Given the description of an element on the screen output the (x, y) to click on. 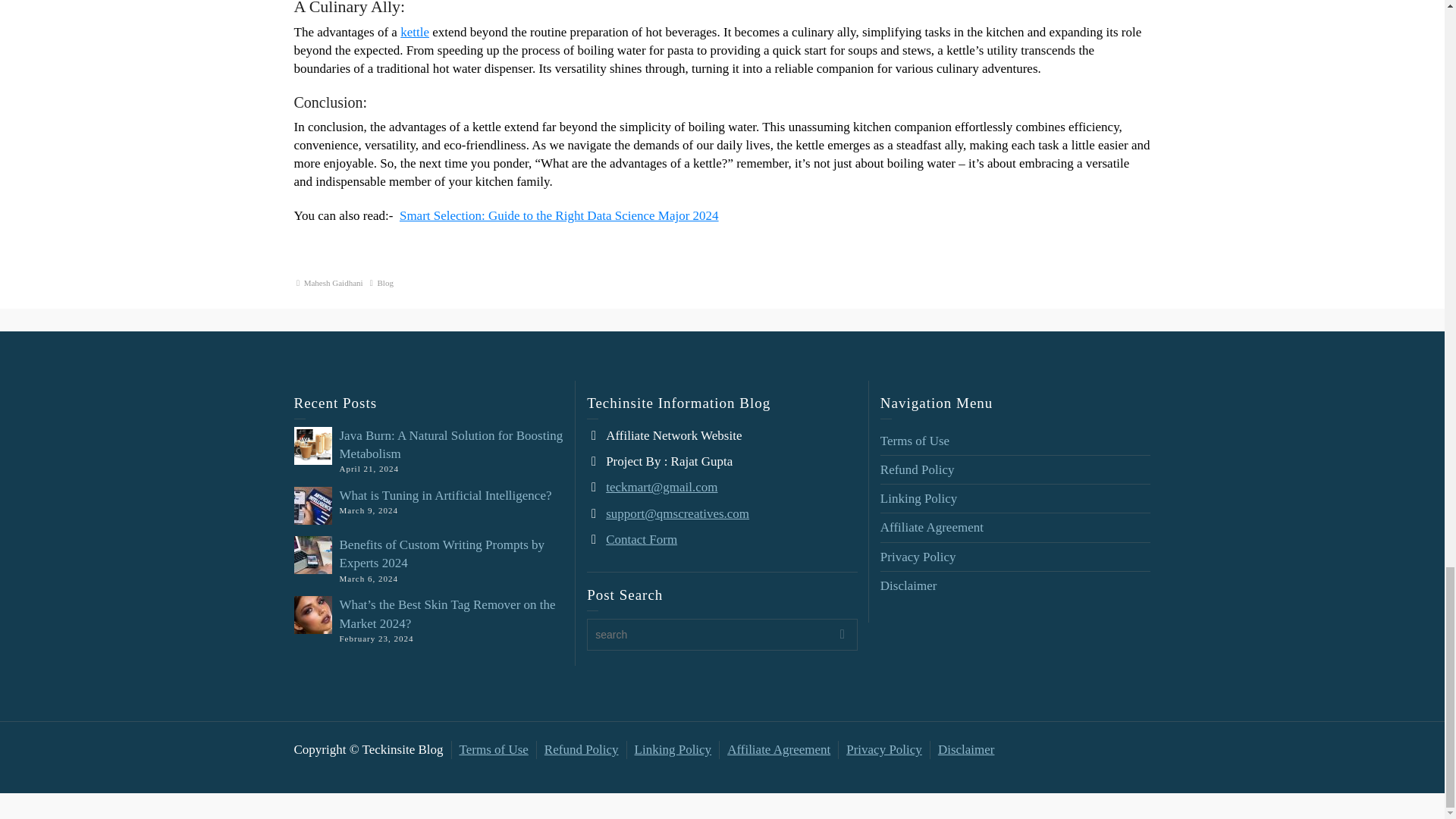
Posts by Mahesh Gaidhani (333, 282)
Smart Selection: Guide to the Right Data Science Major 2024 (558, 215)
Benefits of Custom Writing Prompts by Experts 2024 (441, 553)
kettle (414, 32)
Java Burn: A Natural Solution for Boosting Metabolism (451, 444)
Blog (385, 282)
Contact Form (641, 539)
Benefits of Custom Writing Prompts by Experts 2024 (441, 553)
Mahesh Gaidhani (333, 282)
What is Tuning in Artificial Intelligence? (445, 495)
Java Burn: A Natural Solution for Boosting Metabolism (451, 444)
What is Tuning in Artificial Intelligence? (445, 495)
